Given the description of an element on the screen output the (x, y) to click on. 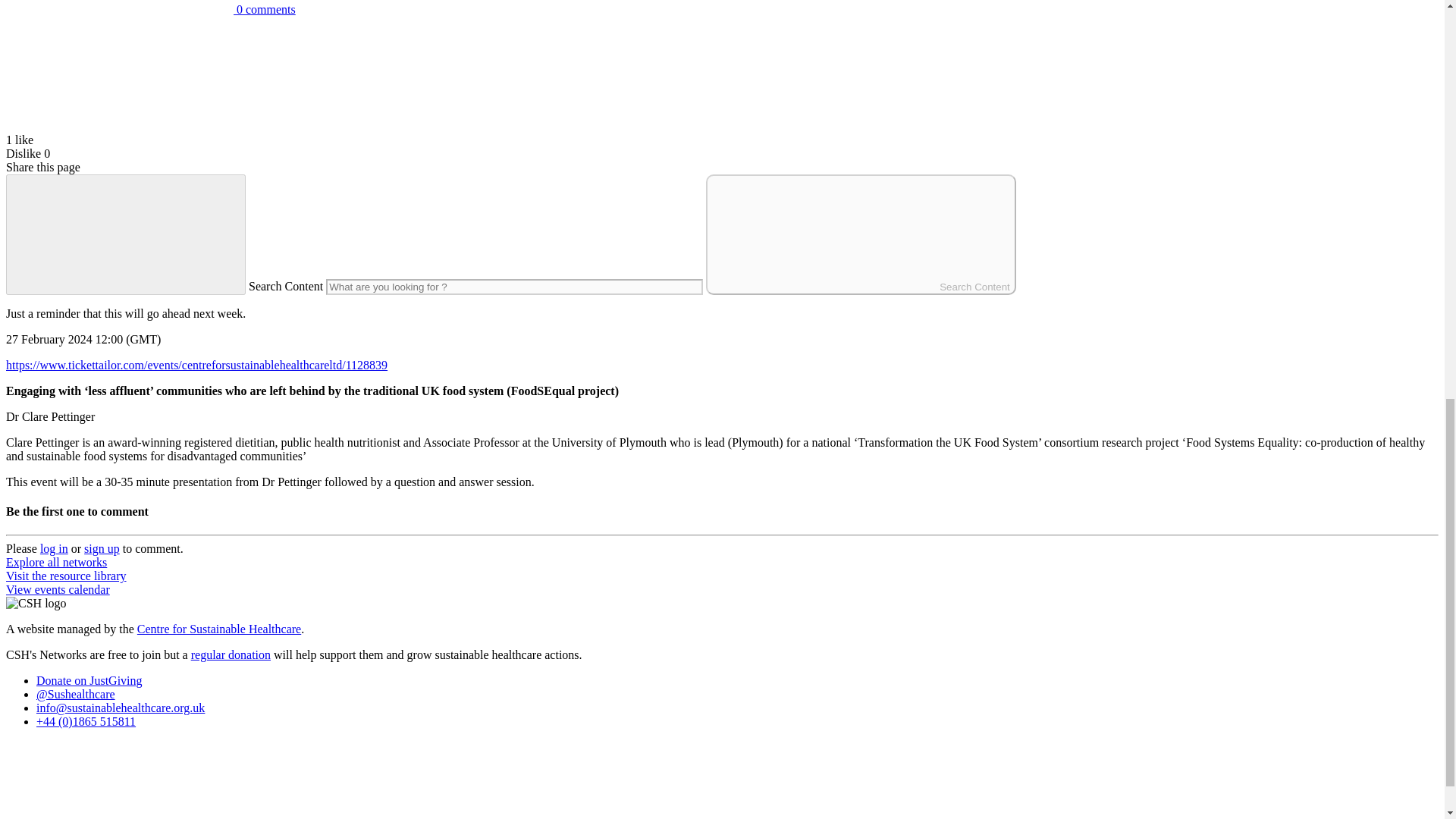
Close search window (125, 234)
Total amount of comments 0 comments (150, 9)
Total amount of likes (118, 125)
regular donation (230, 654)
Search Content (861, 234)
View events calendar (57, 589)
Total amount of likes (118, 73)
Close search window (125, 234)
Total amount of comments (150, 9)
Centre for Sustainable Healthcare (218, 628)
